Given the description of an element on the screen output the (x, y) to click on. 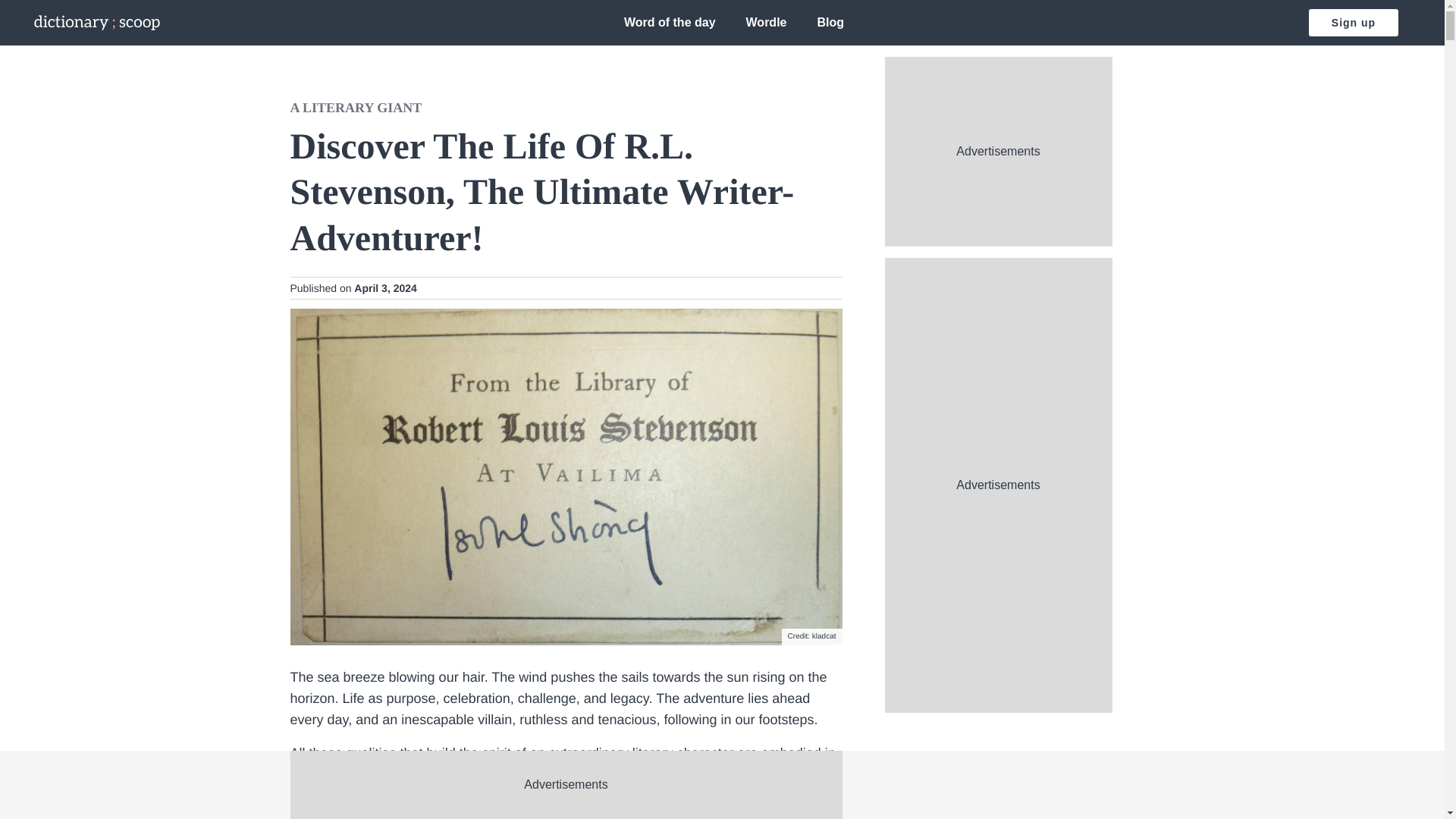
Wordle (766, 21)
Word of the day (670, 21)
Go to home page (96, 22)
Blog (830, 21)
Go to home page (96, 22)
Sign up (1353, 22)
